Given the description of an element on the screen output the (x, y) to click on. 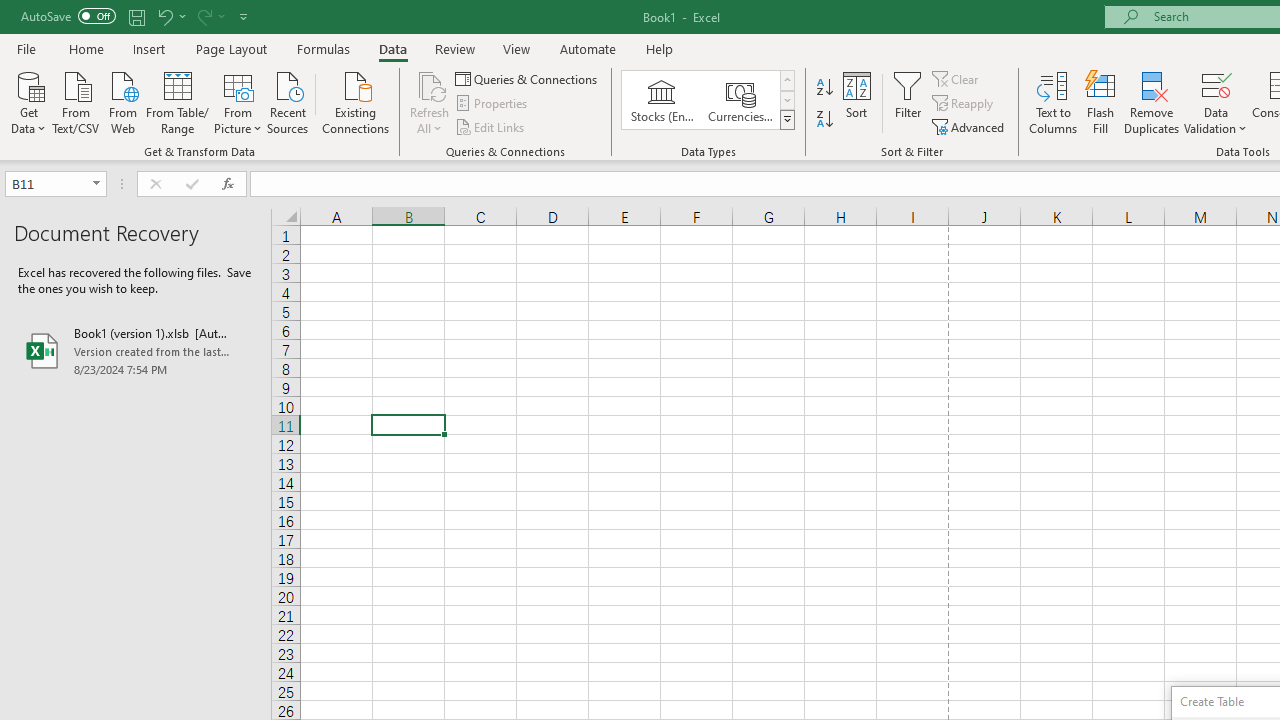
From Text/CSV (75, 101)
From Table/Range (177, 101)
From Web (122, 101)
Stocks (English) (662, 100)
Advanced... (970, 126)
Sort... (856, 102)
Sort Z to A (824, 119)
Currencies (English) (740, 100)
